Given the description of an element on the screen output the (x, y) to click on. 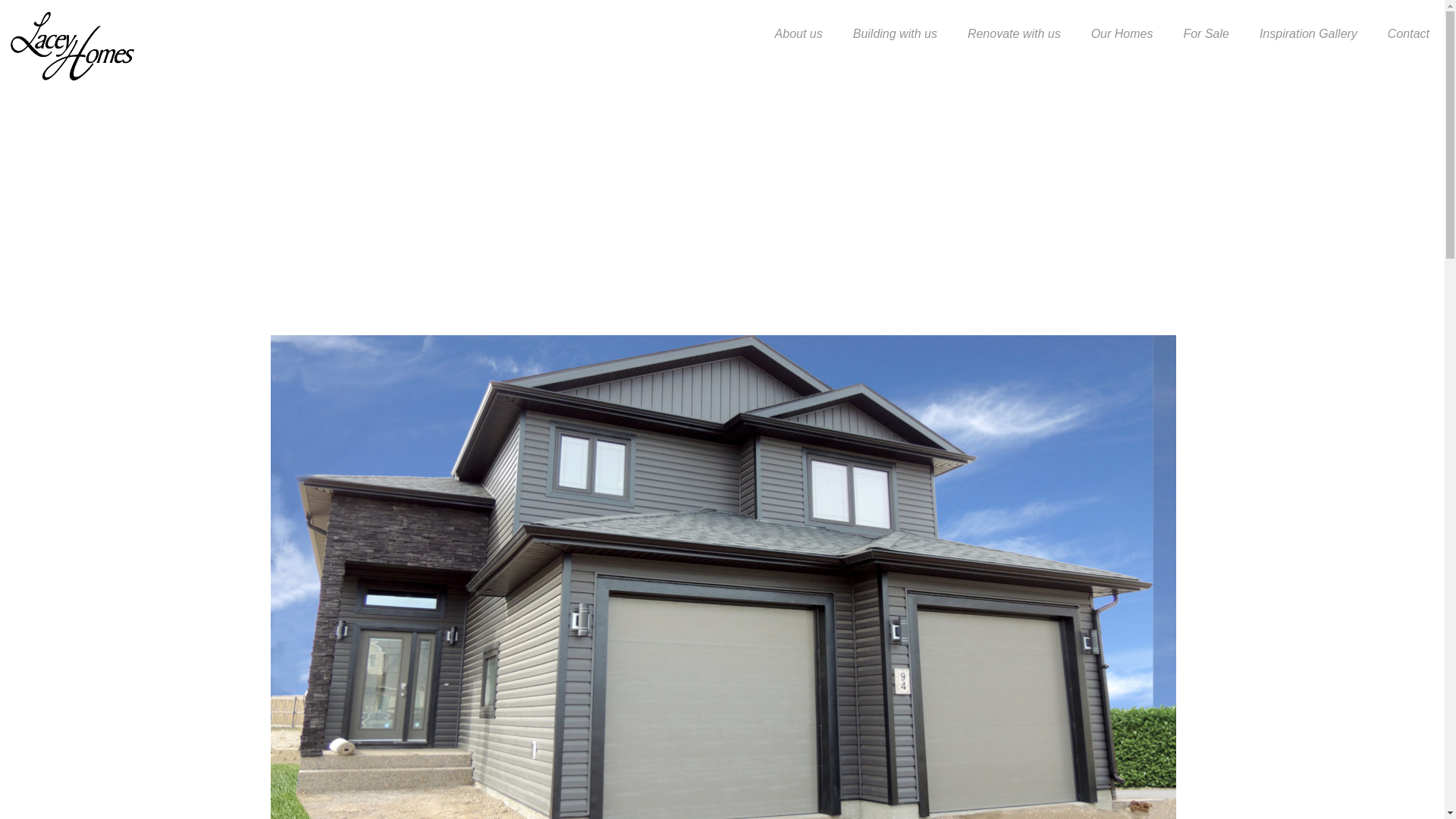
For Sale (1205, 33)
Lacey Homes (72, 45)
Inspiration Gallery (1308, 33)
Our Homes (1122, 33)
About us (799, 33)
Renovate with us (1013, 33)
Building with us (895, 33)
